Given the description of an element on the screen output the (x, y) to click on. 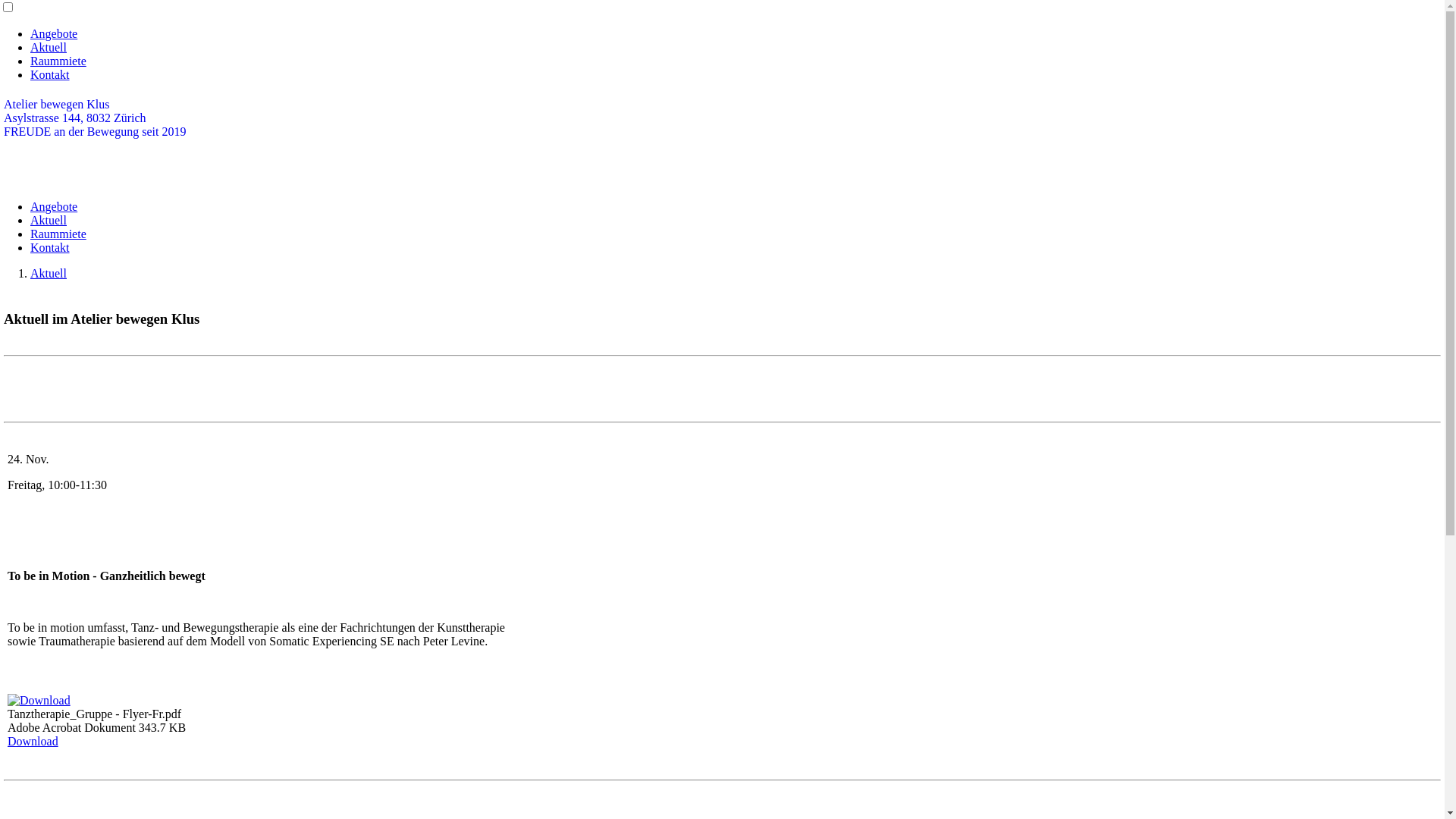
Kontakt Element type: text (49, 74)
Raummiete Element type: text (58, 233)
Aktuell Element type: text (48, 219)
Aktuell Element type: text (48, 272)
Angebote Element type: text (53, 206)
Raummiete Element type: text (58, 60)
Aktuell Element type: text (48, 46)
Angebote Element type: text (53, 33)
Kontakt Element type: text (49, 247)
Download Element type: text (32, 740)
